Given the description of an element on the screen output the (x, y) to click on. 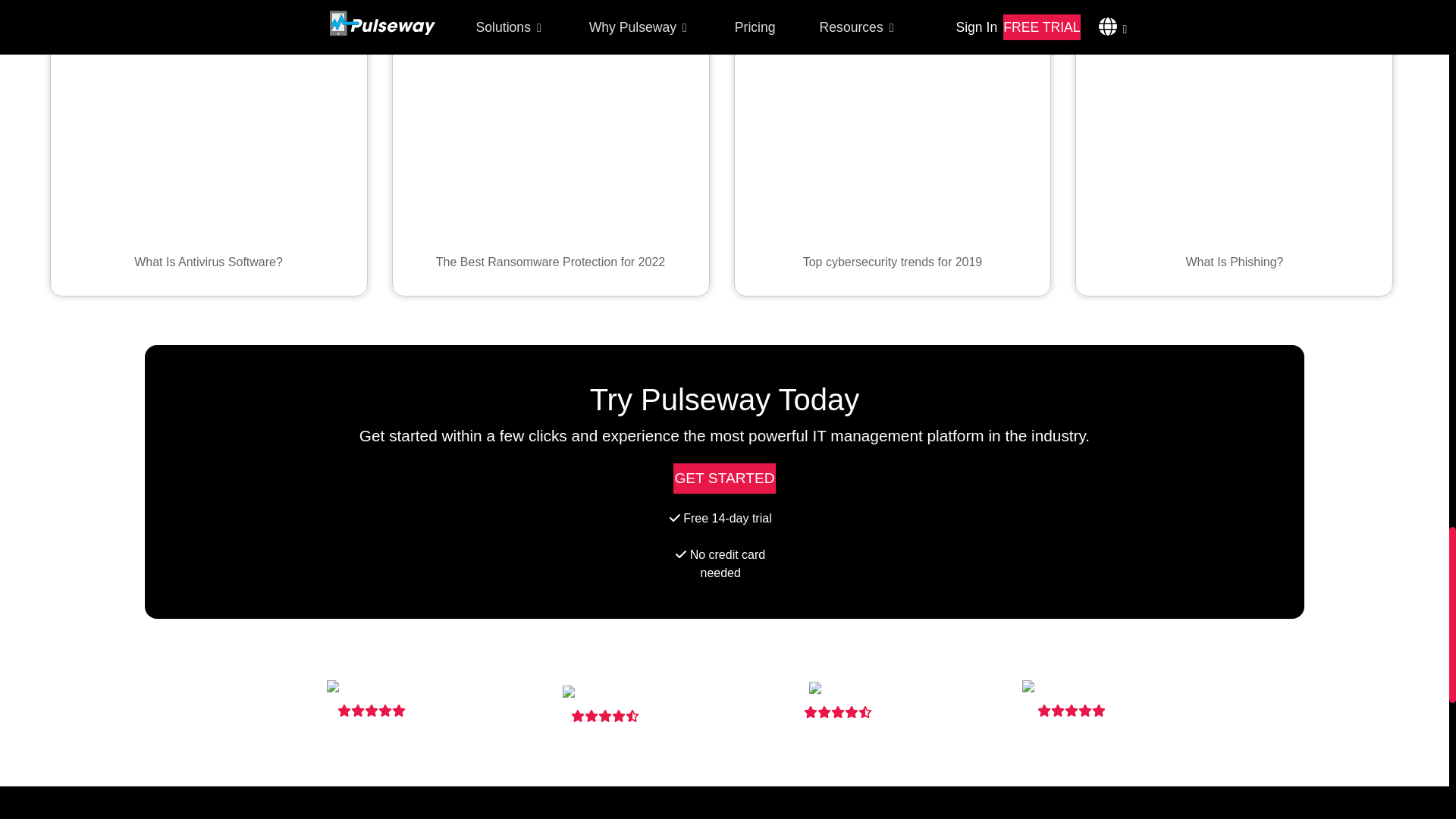
Top cybersecurity trends for 2019 (893, 148)
The Best Ransomware Protection for 2022 (551, 148)
What Is Antivirus Software? (208, 148)
GET STARTED (723, 478)
What Is Phishing? (1233, 148)
